Given the description of an element on the screen output the (x, y) to click on. 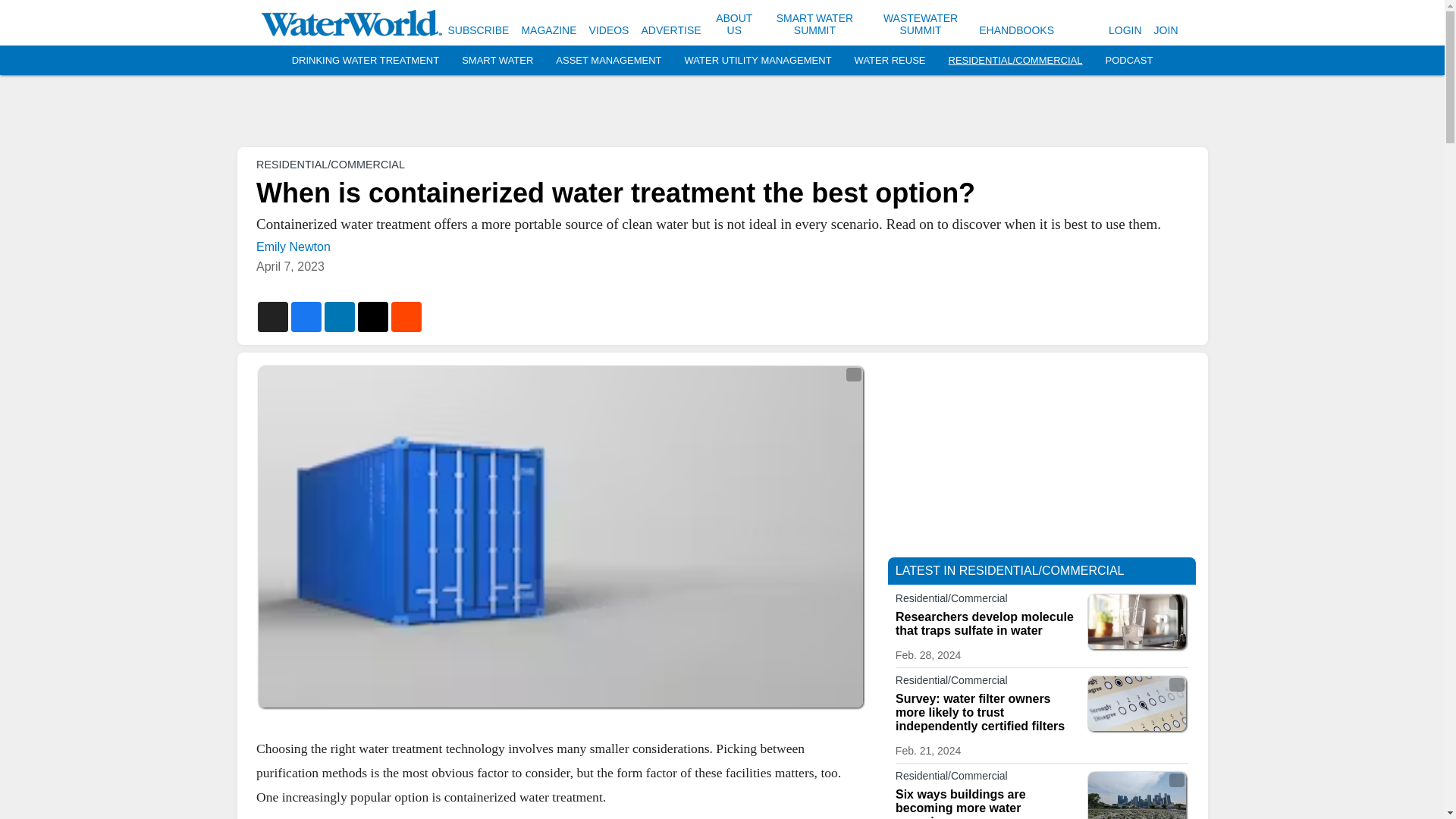
VIDEOS (608, 30)
SUBSCRIBE (477, 30)
WATER REUSE (890, 60)
LOGIN (1124, 30)
ADVERTISE (670, 30)
ABOUT US (734, 24)
DRINKING WATER TREATMENT (365, 60)
MAGAZINE (548, 30)
WATER UTILITY MANAGEMENT (757, 60)
PODCAST (1129, 60)
ASSET MANAGEMENT (608, 60)
SMART WATER SUMMIT (814, 24)
WASTEWATER SUMMIT (920, 24)
JOIN (1165, 30)
EHANDBOOKS (1016, 30)
